Given the description of an element on the screen output the (x, y) to click on. 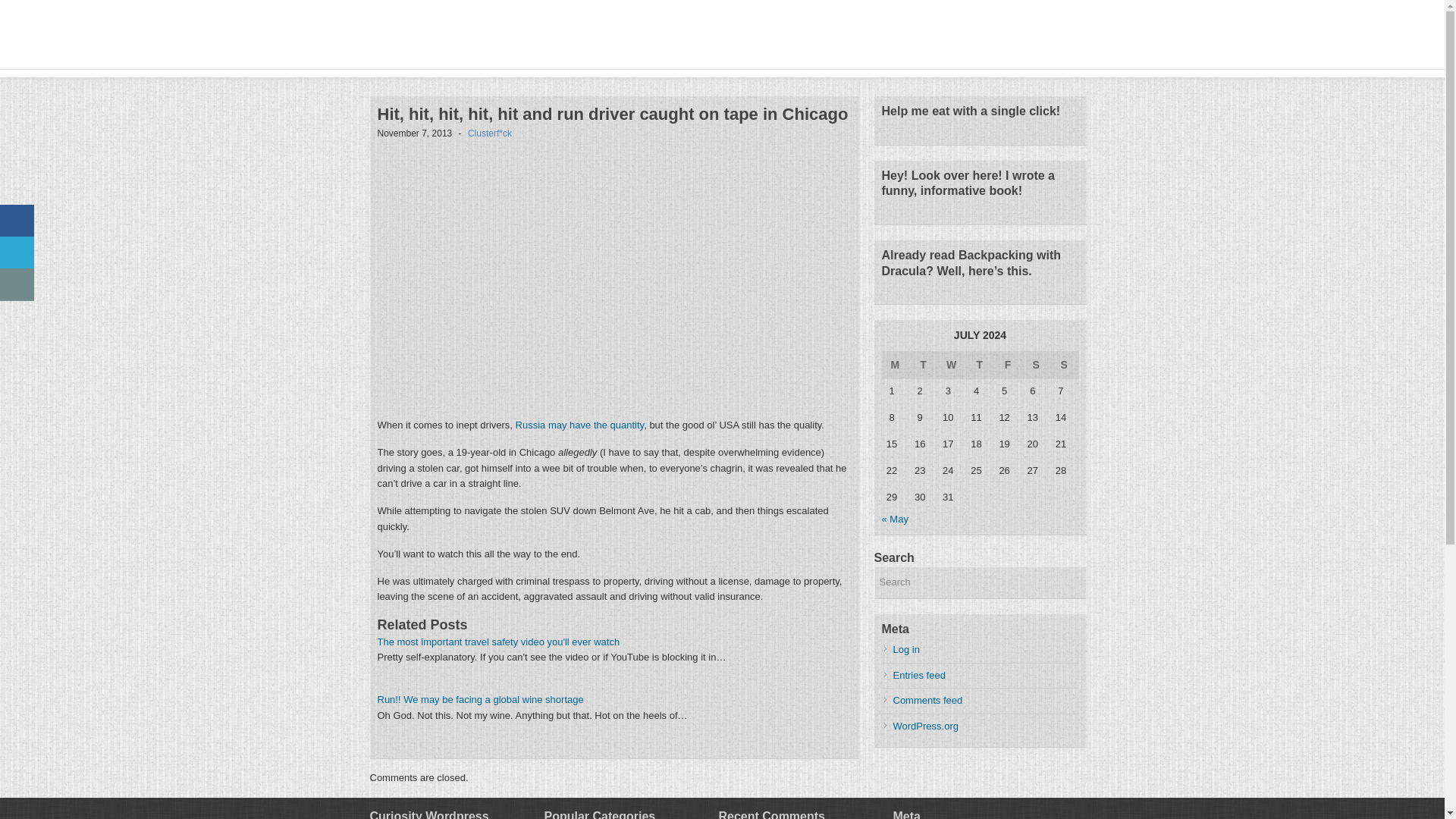
Monday (894, 364)
Wednesday (951, 364)
Search (979, 582)
Killing Batteries (509, 36)
Log in (906, 649)
Contact us (16, 284)
Entries feed (918, 674)
Sunday (1063, 364)
Search (979, 582)
Run!! We may be facing a global wine shortage (480, 699)
Hide Buttons (18, 323)
Friday (1008, 364)
Share On Facebook (16, 220)
Share On Twitter (16, 252)
Comments feed (927, 699)
